Given the description of an element on the screen output the (x, y) to click on. 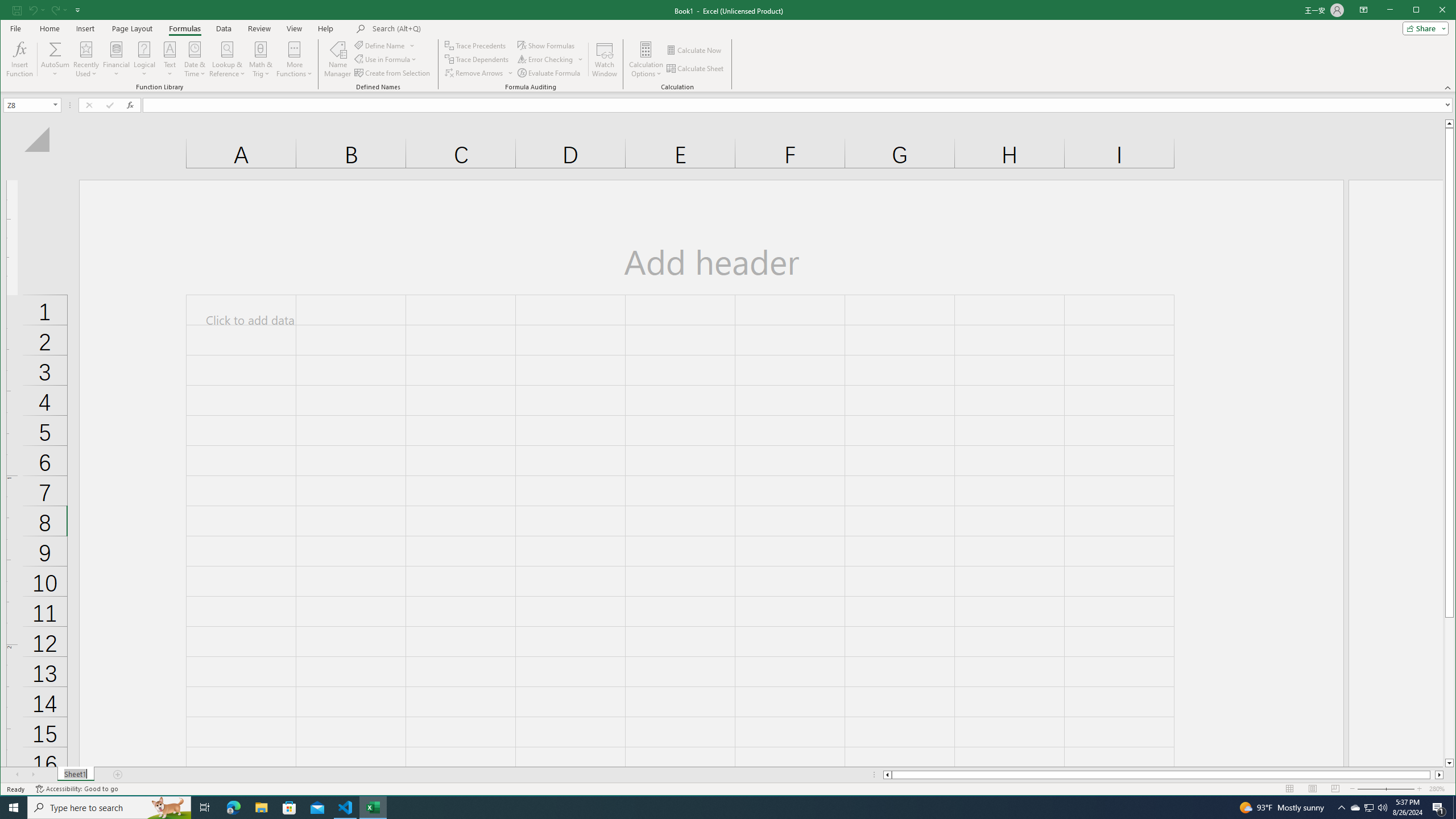
Task View (204, 807)
Evaluate Formula (549, 72)
Show Formulas (546, 45)
Name Manager (337, 59)
Create from Selection... (392, 72)
Insert Function... (19, 59)
